Given the description of an element on the screen output the (x, y) to click on. 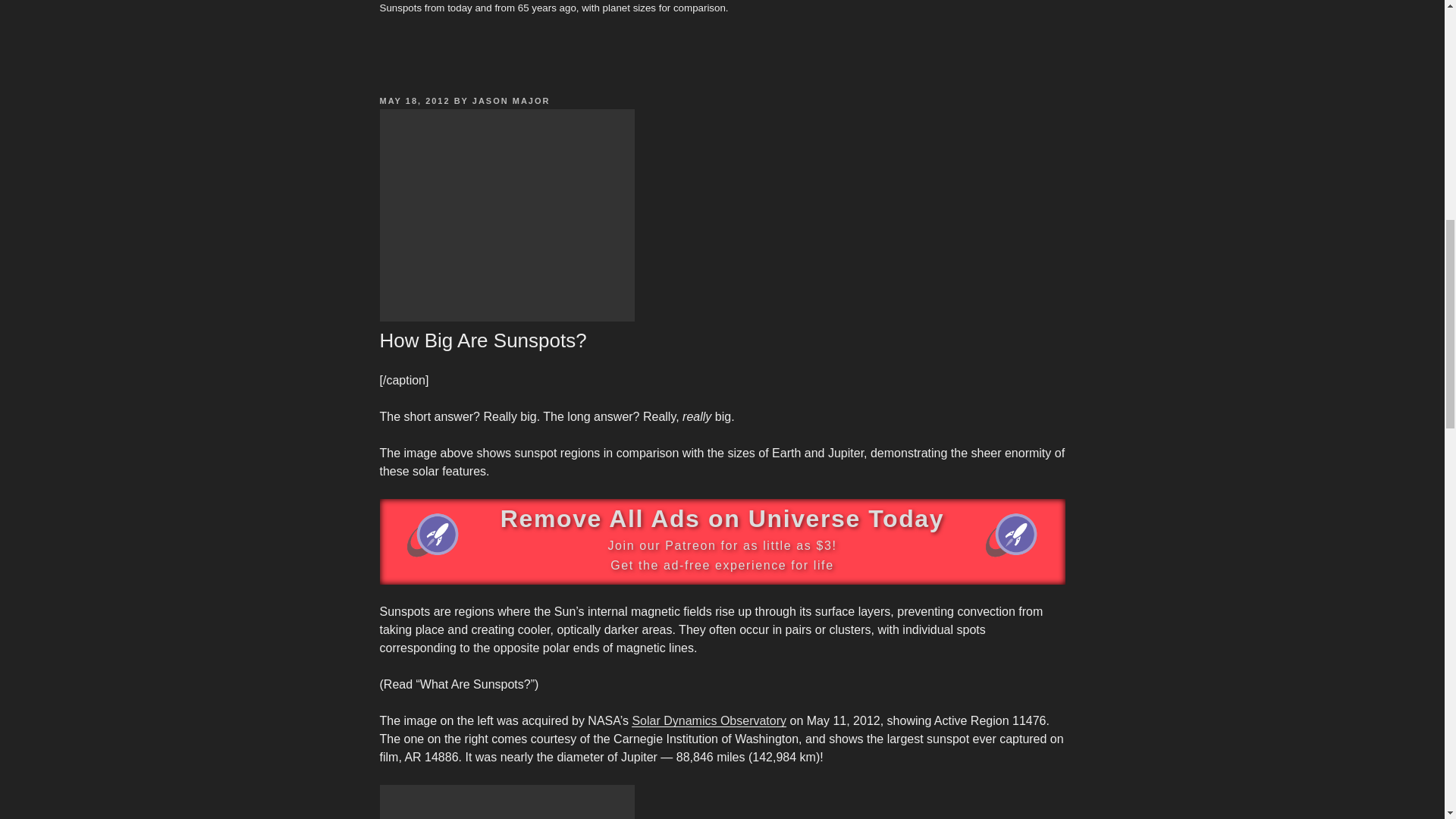
MAY 18, 2012 (413, 100)
Advertisement (505, 214)
Advertisement (505, 801)
Solar Dynamics Observatory (708, 720)
JASON MAJOR (510, 100)
